Given the description of an element on the screen output the (x, y) to click on. 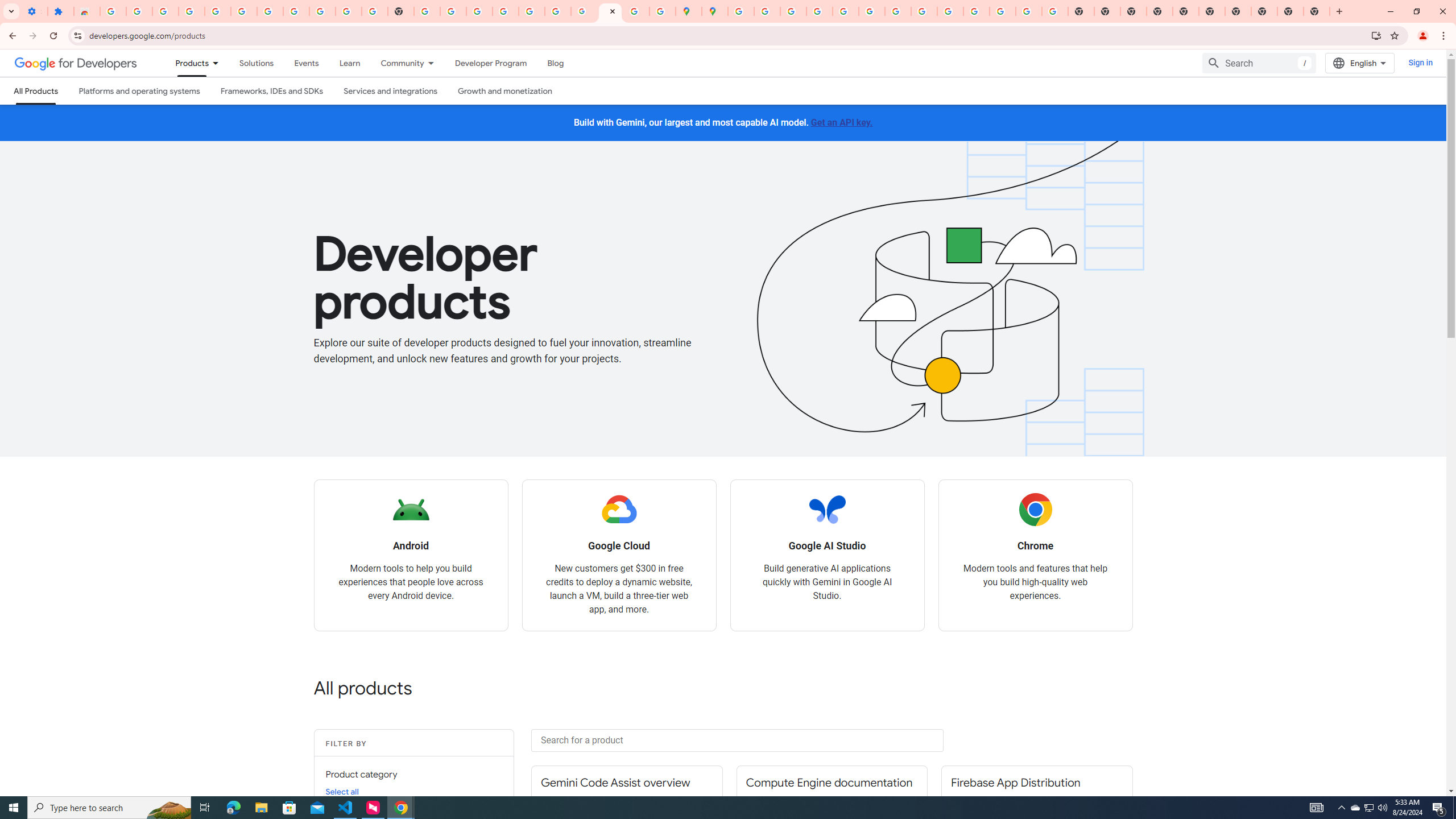
Services and integrations (390, 90)
Reviews: Helix Fruit Jump Arcade Game (86, 11)
Frameworks, IDEs and SDKs (271, 90)
Events (306, 62)
Learning Catalog (350, 62)
Get an API key. (841, 122)
Dropdown menu for Products (219, 62)
Google AI Studio logo (826, 509)
Sign in - Google Accounts (269, 11)
Dropdown menu for Community (433, 62)
